Given the description of an element on the screen output the (x, y) to click on. 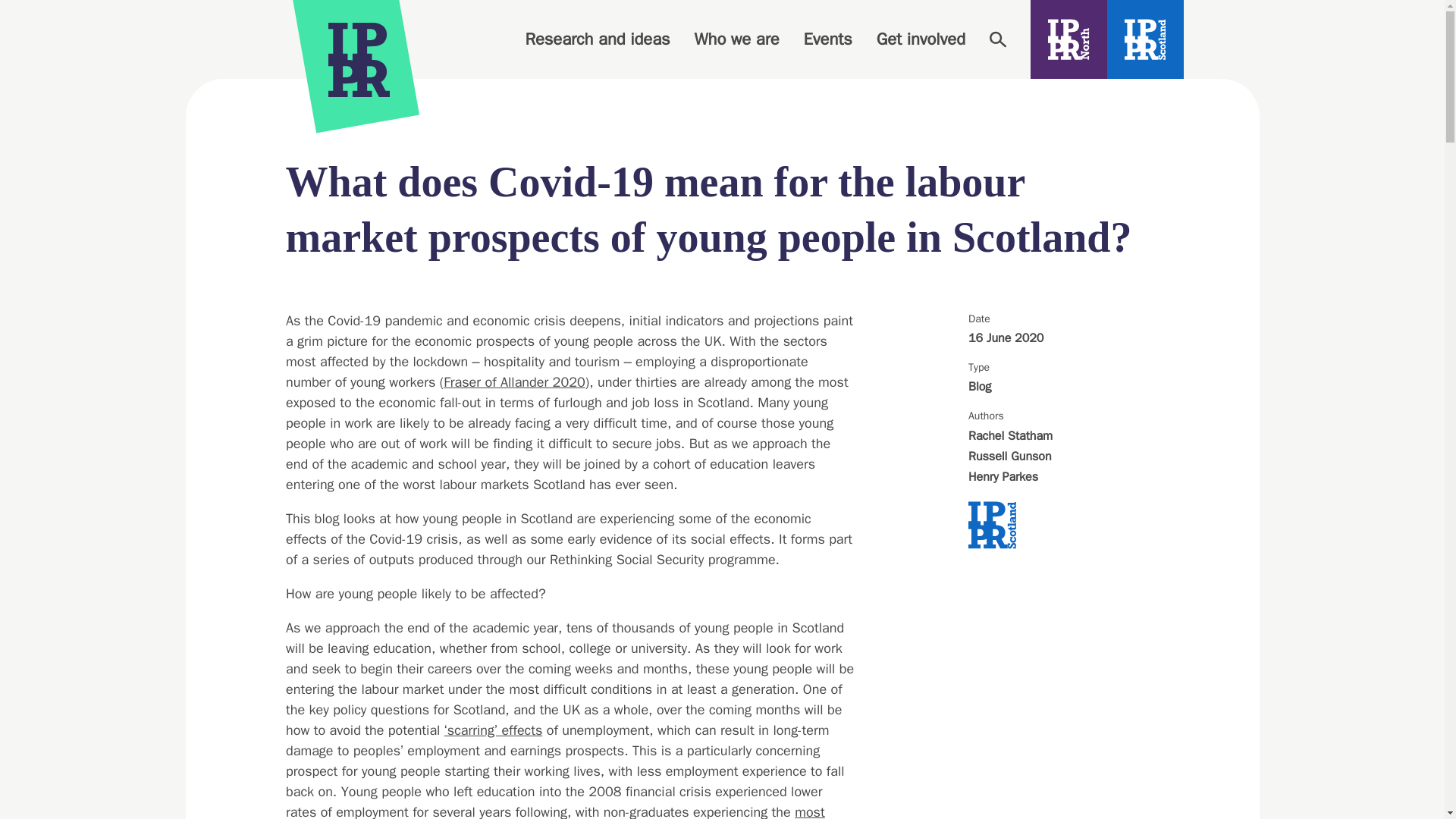
Get involved (920, 39)
Events (827, 39)
Fraser of Allander 2020 (514, 381)
most significant and longest-lasting scarring effects (554, 811)
Research and ideas (596, 39)
Who we are (736, 39)
